Given the description of an element on the screen output the (x, y) to click on. 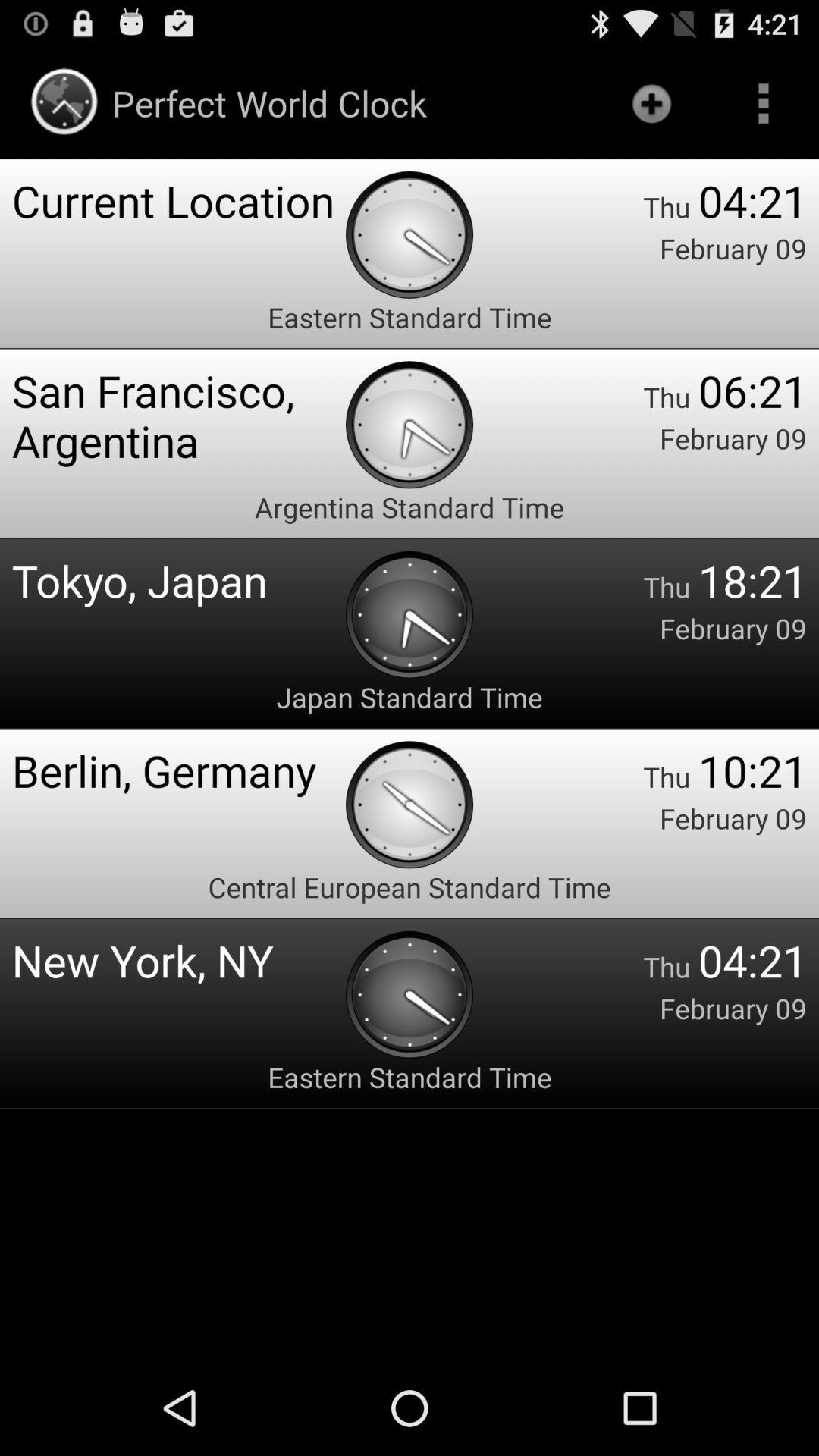
click the app above central european standard icon (178, 770)
